Given the description of an element on the screen output the (x, y) to click on. 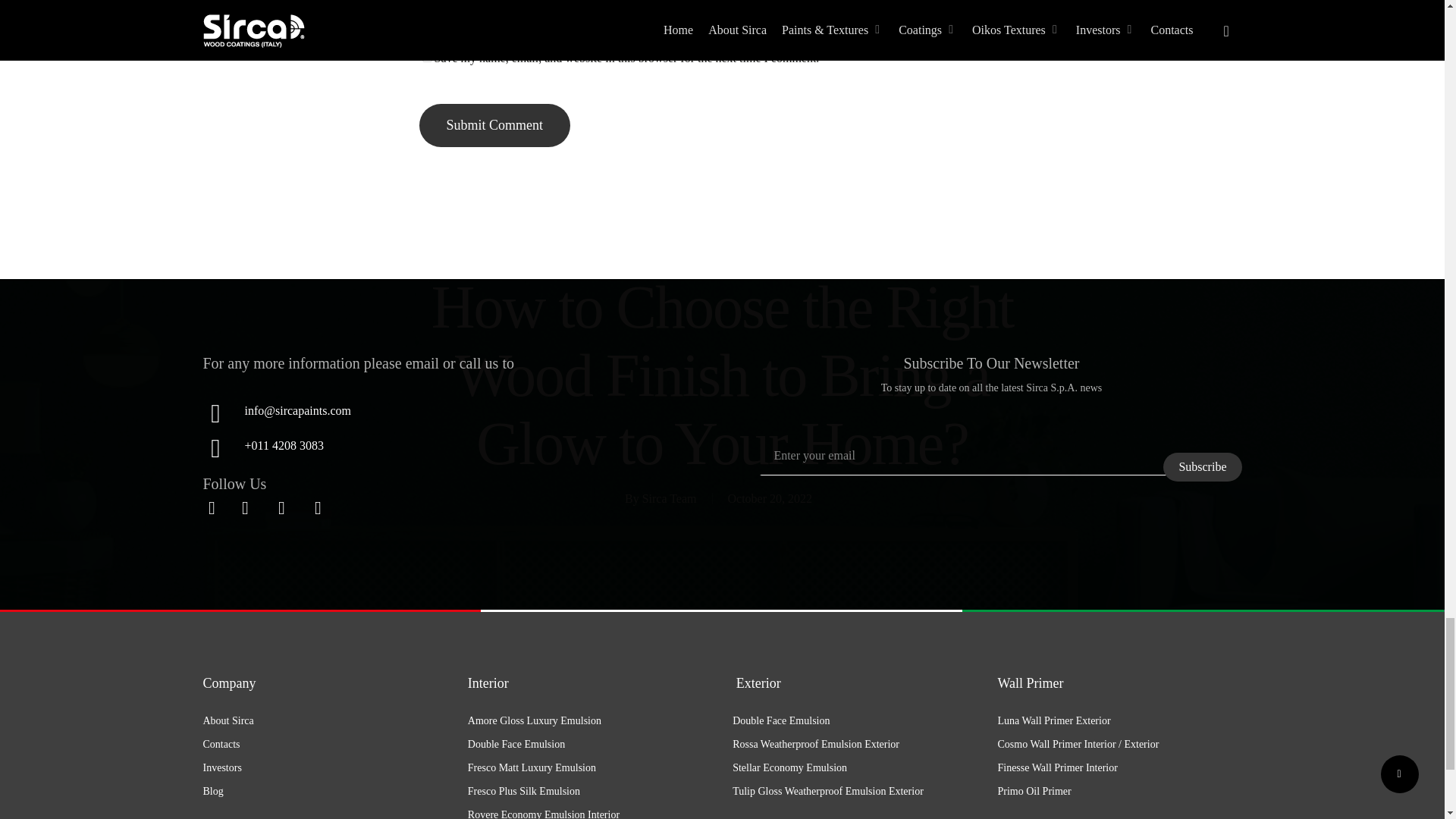
yes (426, 57)
Subscribe (1202, 466)
Submit Comment (494, 126)
